Given the description of an element on the screen output the (x, y) to click on. 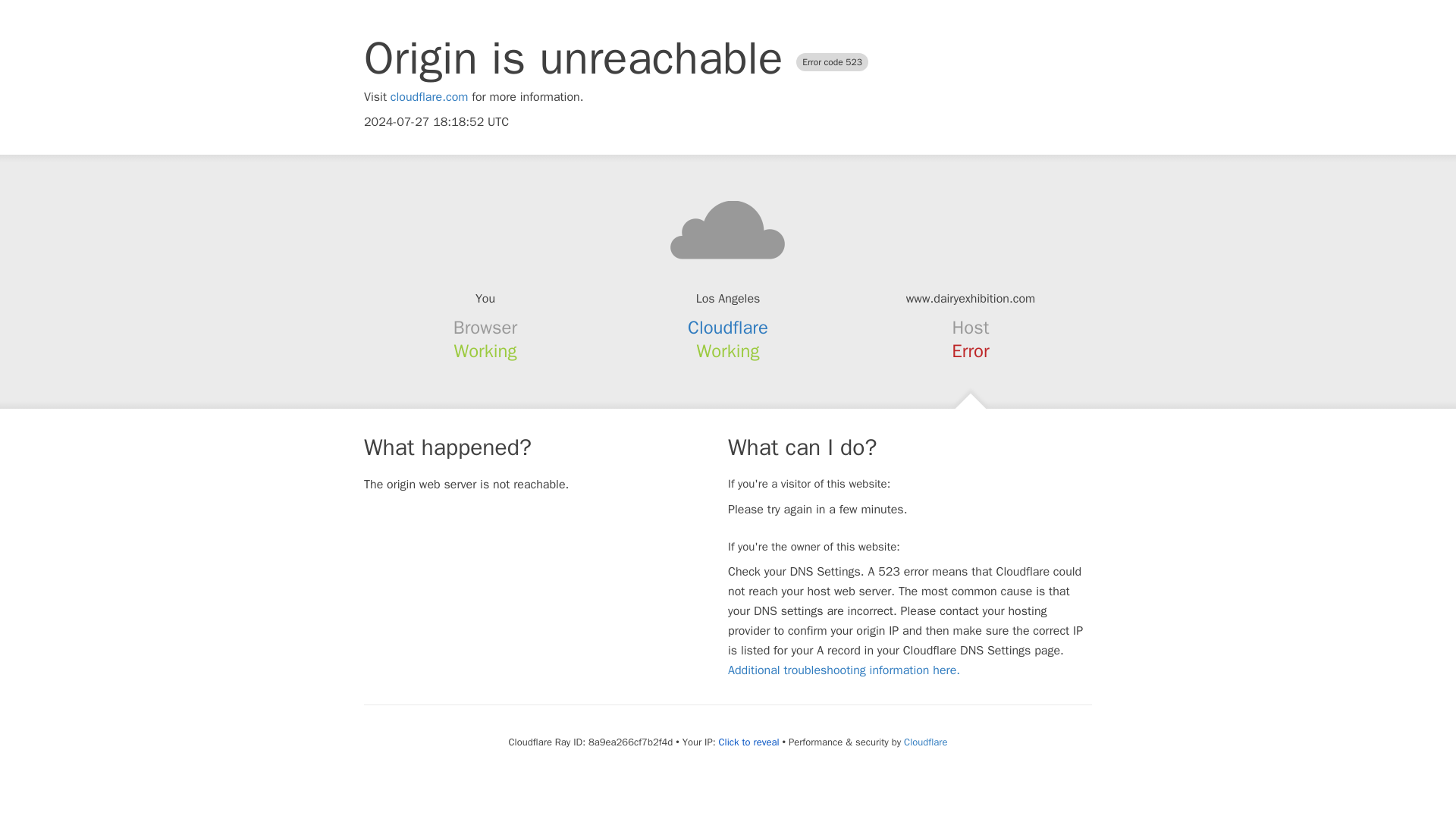
Click to reveal (748, 742)
cloudflare.com (429, 96)
Cloudflare (925, 741)
Additional troubleshooting information here. (843, 670)
Cloudflare (727, 327)
